Given the description of an element on the screen output the (x, y) to click on. 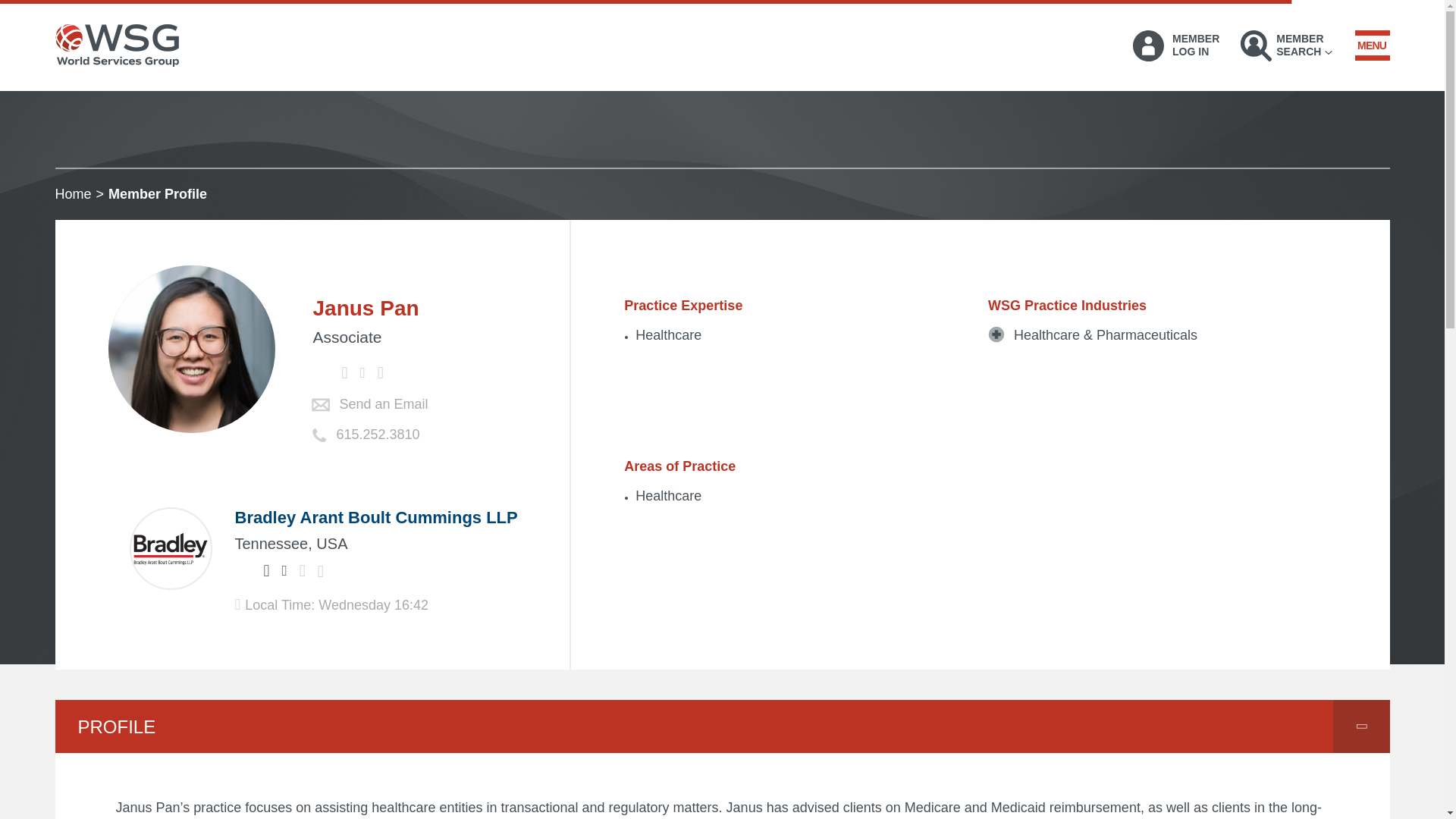
Twitter (242, 570)
MENU (1371, 45)
Send an Email (383, 404)
Twitter (1176, 45)
Bradley Arant Boult Cummings LLP (321, 372)
Home (1286, 45)
Toggle Menu (376, 517)
615.252.3810 (72, 193)
